Given the description of an element on the screen output the (x, y) to click on. 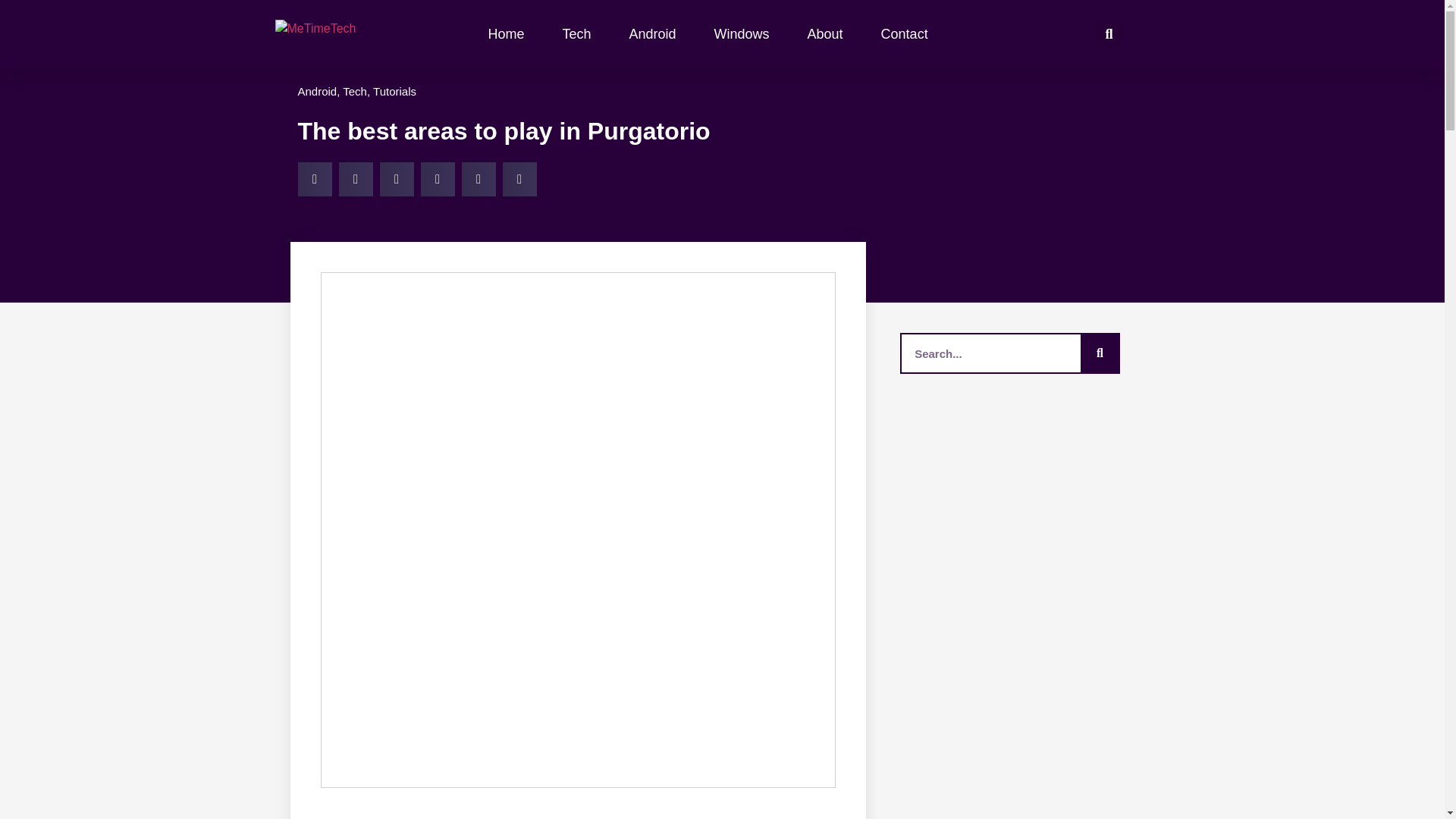
Search (990, 353)
Search (1099, 353)
Android (316, 91)
Tech (354, 91)
Windows (742, 33)
Tutorials (394, 91)
